Given the description of an element on the screen output the (x, y) to click on. 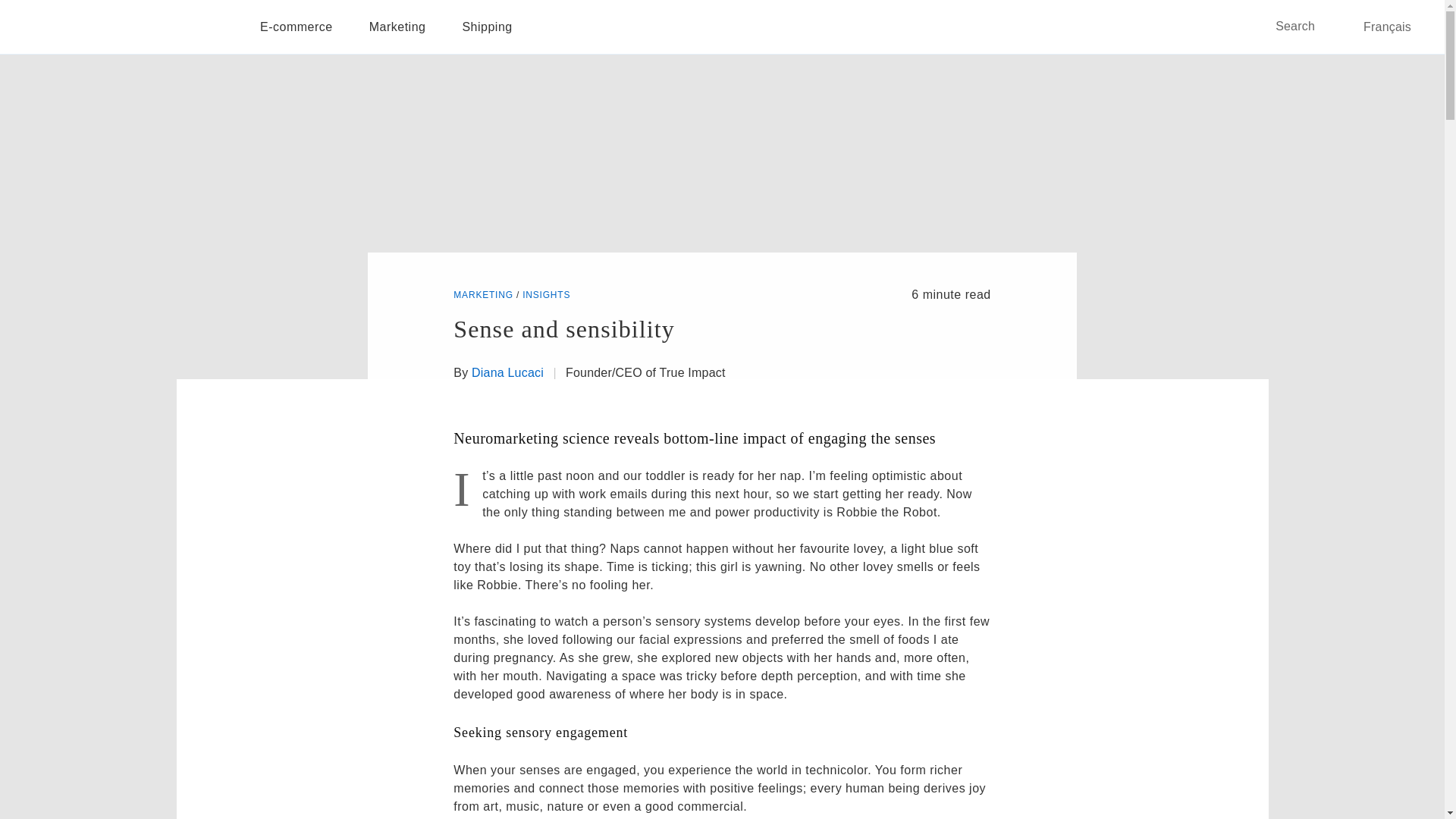
MARKETING (482, 294)
Diana Lucaci (507, 372)
Marketing (397, 27)
E-commerce (295, 27)
INSIGHTS (546, 294)
Search (1305, 26)
Shipping (486, 27)
